Given the description of an element on the screen output the (x, y) to click on. 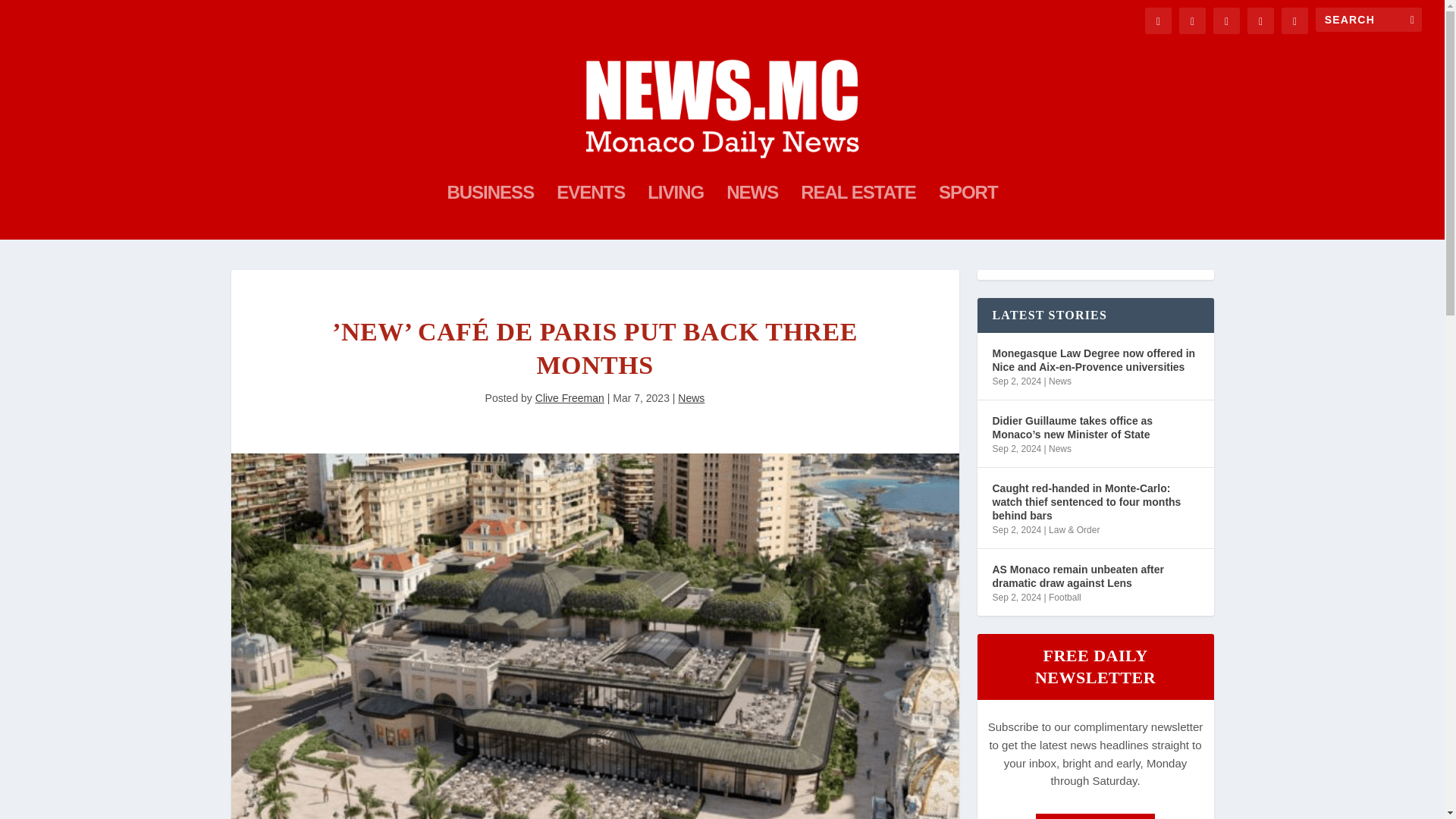
LIVING (675, 212)
Search for: (1369, 19)
Posts by Clive Freeman (569, 398)
SPORT (968, 212)
News (691, 398)
NEWS (751, 212)
News (1059, 380)
Clive Freeman (569, 398)
REAL ESTATE (857, 212)
